Given the description of an element on the screen output the (x, y) to click on. 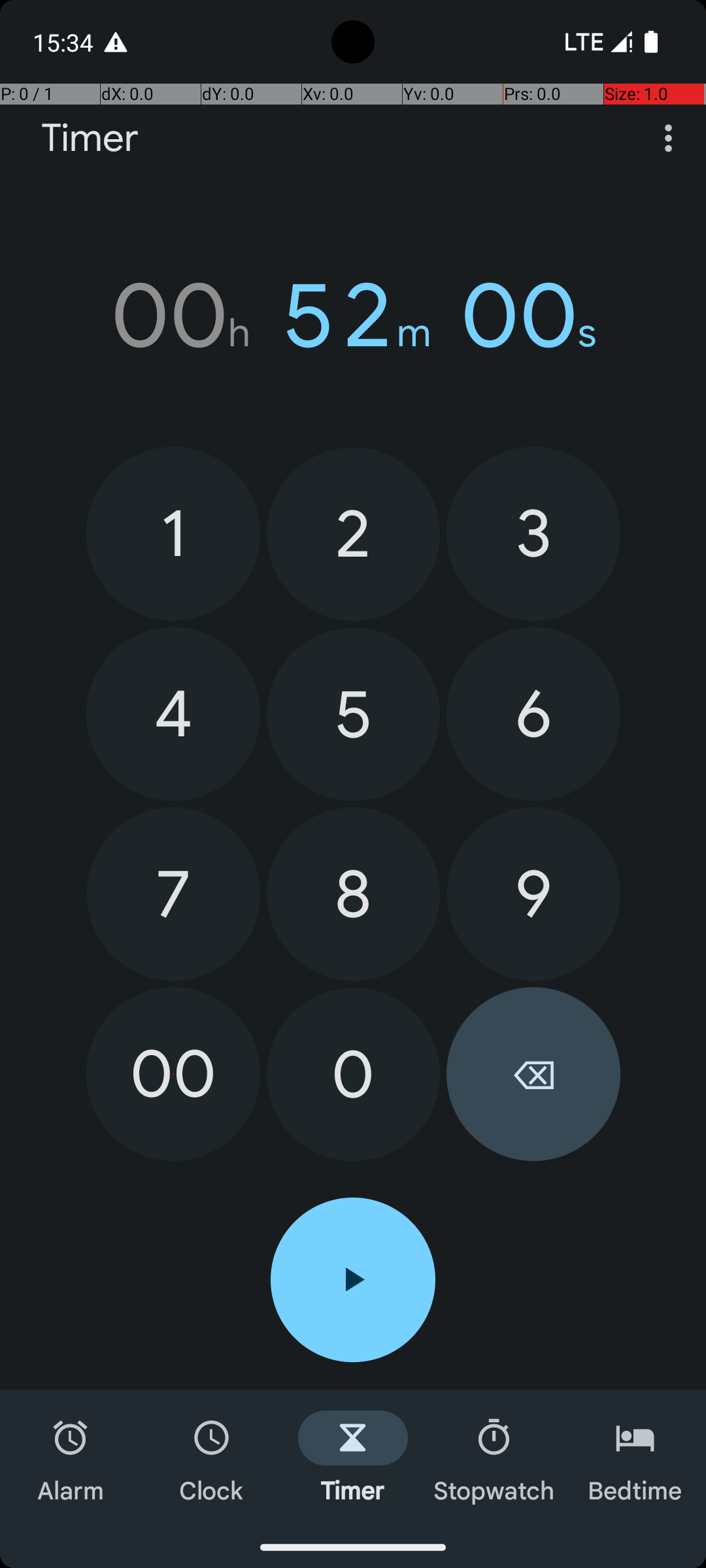
00h 52m 00s Element type: android.widget.TextView (353, 315)
0 Element type: android.widget.Button (352, 1073)
⌫ Element type: android.widget.Button (533, 1073)
Start Element type: android.widget.Button (352, 1279)
